Given the description of an element on the screen output the (x, y) to click on. 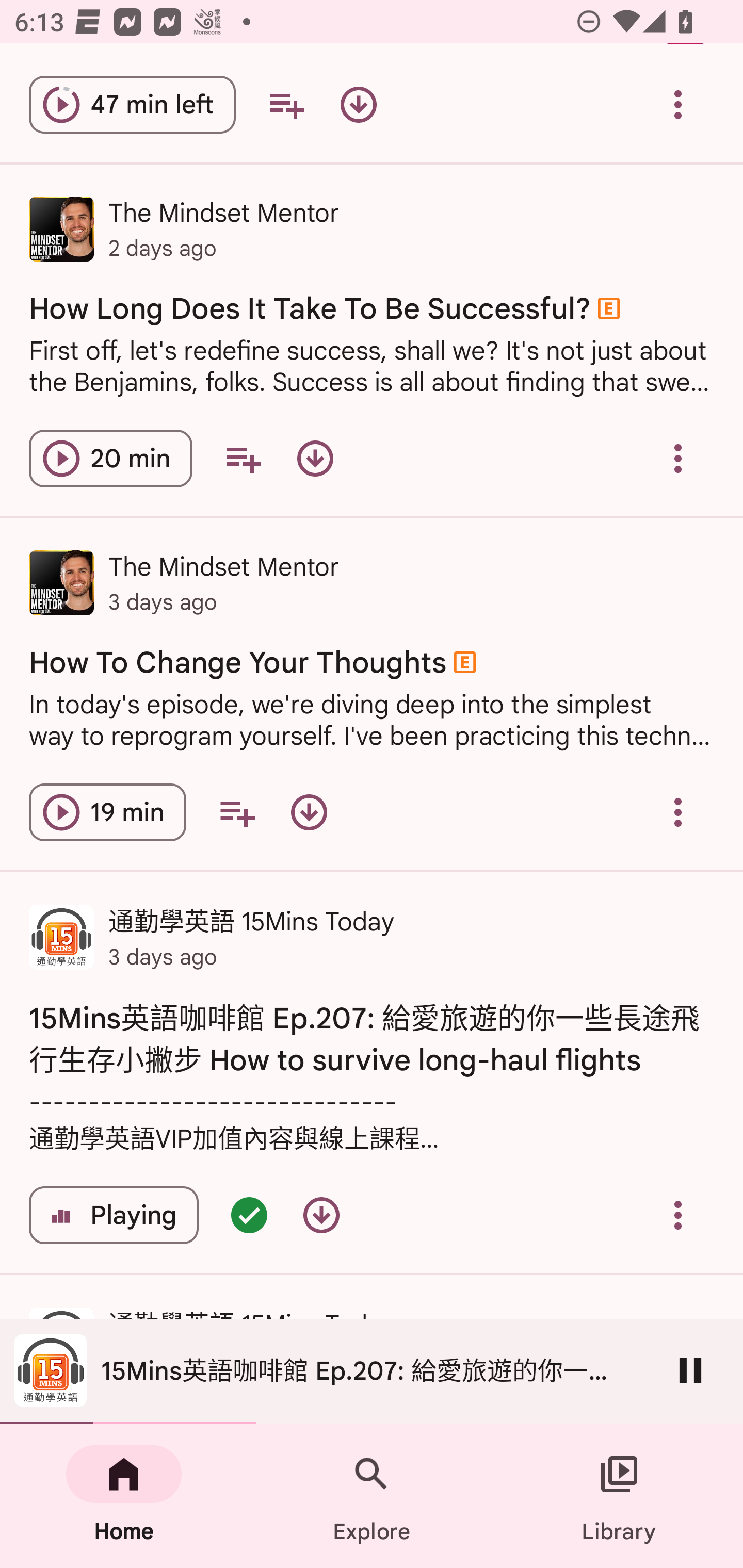
Play episode Meet My Wife 47 min left (131, 104)
Add to your queue (286, 104)
Download episode (358, 104)
Overflow menu (677, 104)
Add to your queue (242, 458)
Download episode (315, 458)
Overflow menu (677, 458)
Play episode How To Change Your Thoughts 19 min (107, 812)
Add to your queue (236, 812)
Download episode (308, 812)
Overflow menu (677, 812)
Episode queued - double tap for options (249, 1215)
Download episode (321, 1215)
Overflow menu (677, 1215)
Pause (690, 1370)
Explore (371, 1495)
Library (619, 1495)
